Given the description of an element on the screen output the (x, y) to click on. 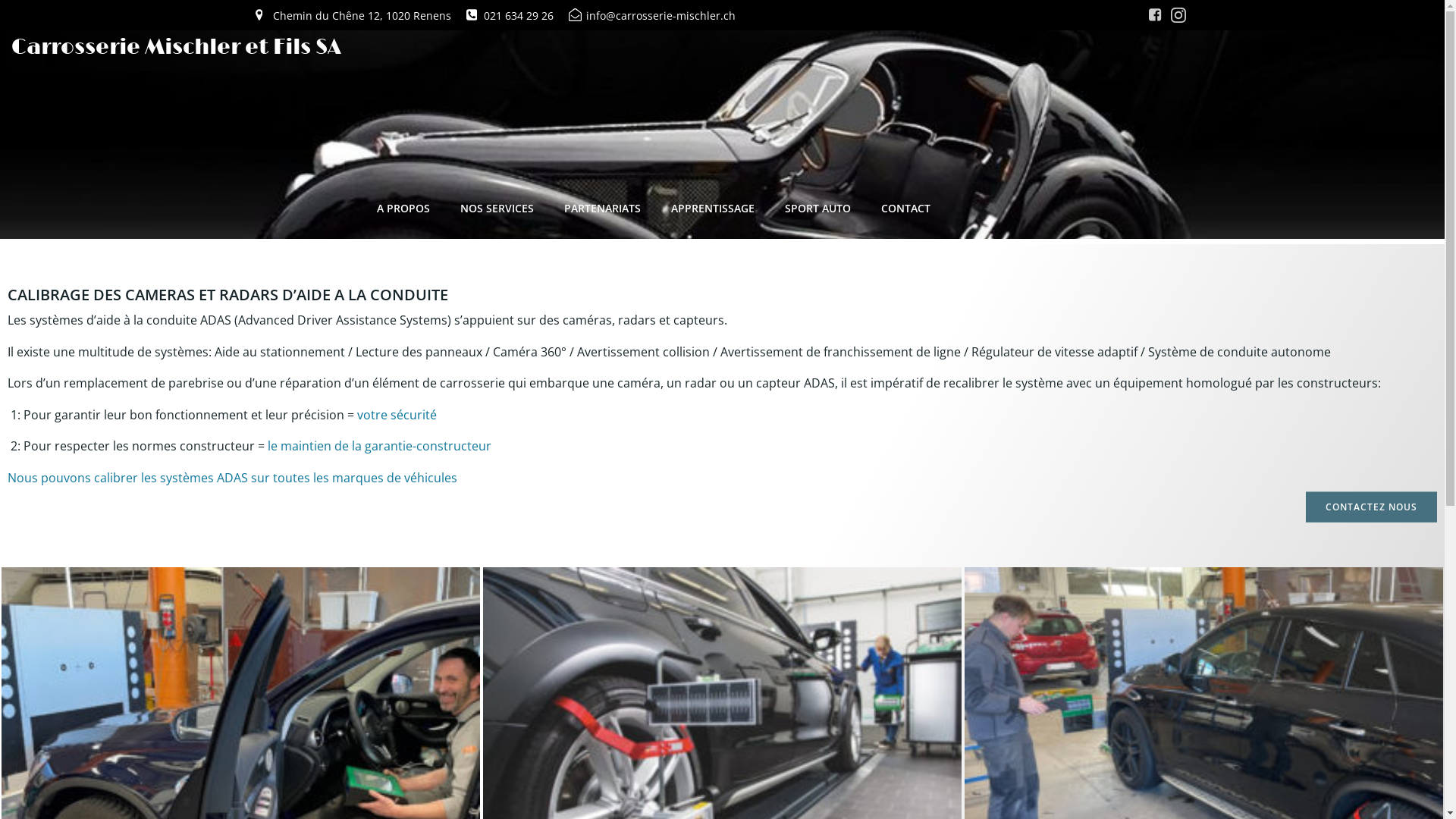
CONTACTEZ NOUS Element type: text (1371, 506)
CONTACT Element type: text (905, 208)
NOS SERVICES Element type: text (496, 208)
SPORT AUTO Element type: text (817, 208)
Colibri Element type: text (941, 762)
A PROPOS Element type: text (402, 208)
APPRENTISSAGE Element type: text (712, 208)
PARTENARIATS Element type: text (602, 208)
info@carrosserie-mischler.ch Element type: text (651, 14)
Carrosserie Mischler et Fils SA Element type: text (176, 47)
